Given the description of an element on the screen output the (x, y) to click on. 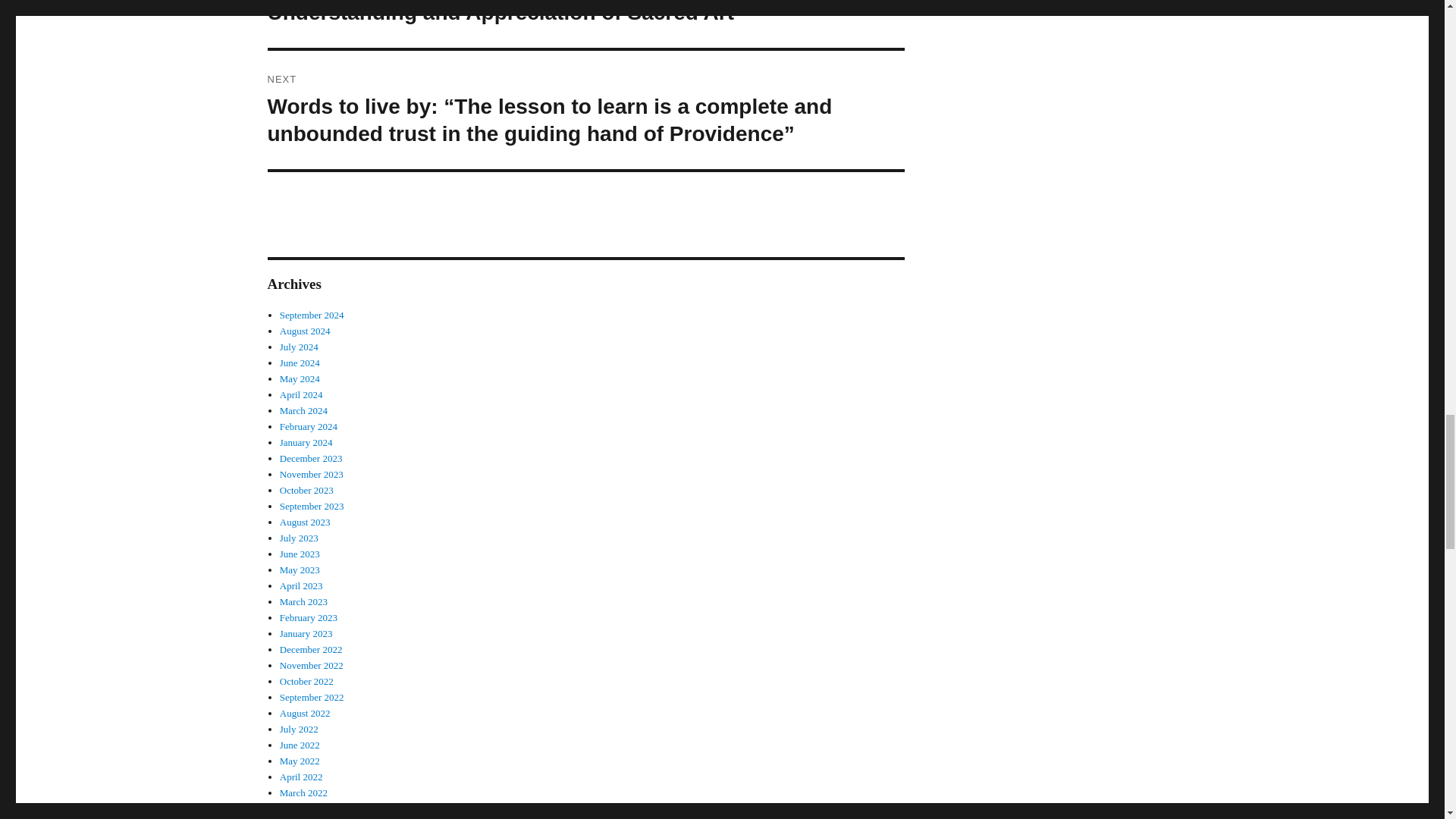
April 2024 (301, 394)
November 2022 (311, 665)
May 2023 (299, 569)
June 2023 (299, 553)
February 2023 (308, 617)
July 2023 (298, 537)
August 2024 (304, 330)
November 2023 (311, 473)
March 2024 (303, 410)
January 2024 (306, 441)
